Given the description of an element on the screen output the (x, y) to click on. 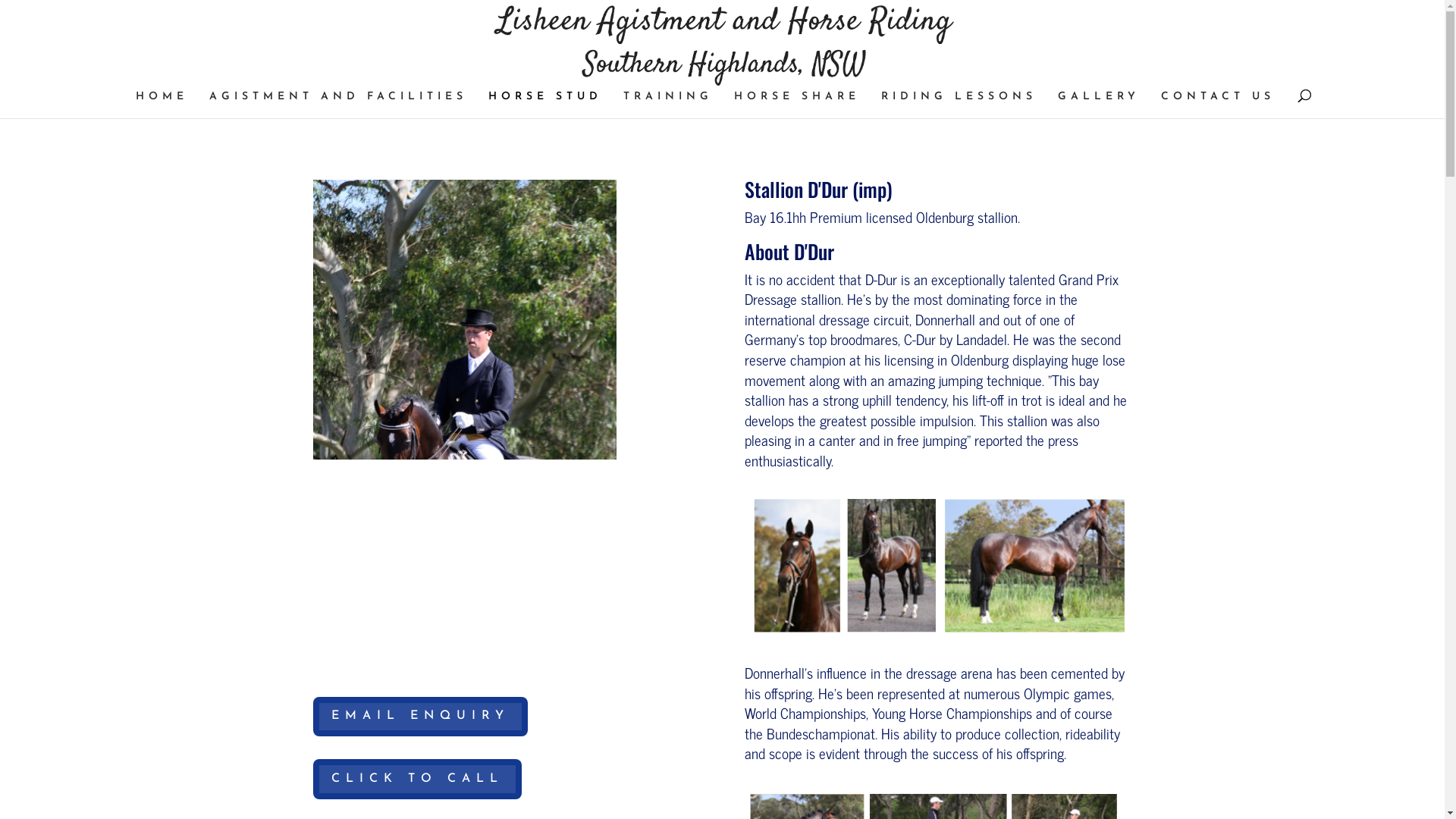
TRAINING Element type: text (667, 104)
GALLERY Element type: text (1098, 104)
CLICK TO CALL Element type: text (416, 779)
EMAIL ENQUIRY Element type: text (419, 716)
CONTACT US Element type: text (1217, 104)
RIDING LESSONS Element type: text (958, 104)
HOME Element type: text (160, 104)
HORSE SHARE Element type: text (796, 104)
HORSE STUD Element type: text (545, 104)
AGISTMENT AND FACILITIES Element type: text (338, 104)
